Given the description of an element on the screen output the (x, y) to click on. 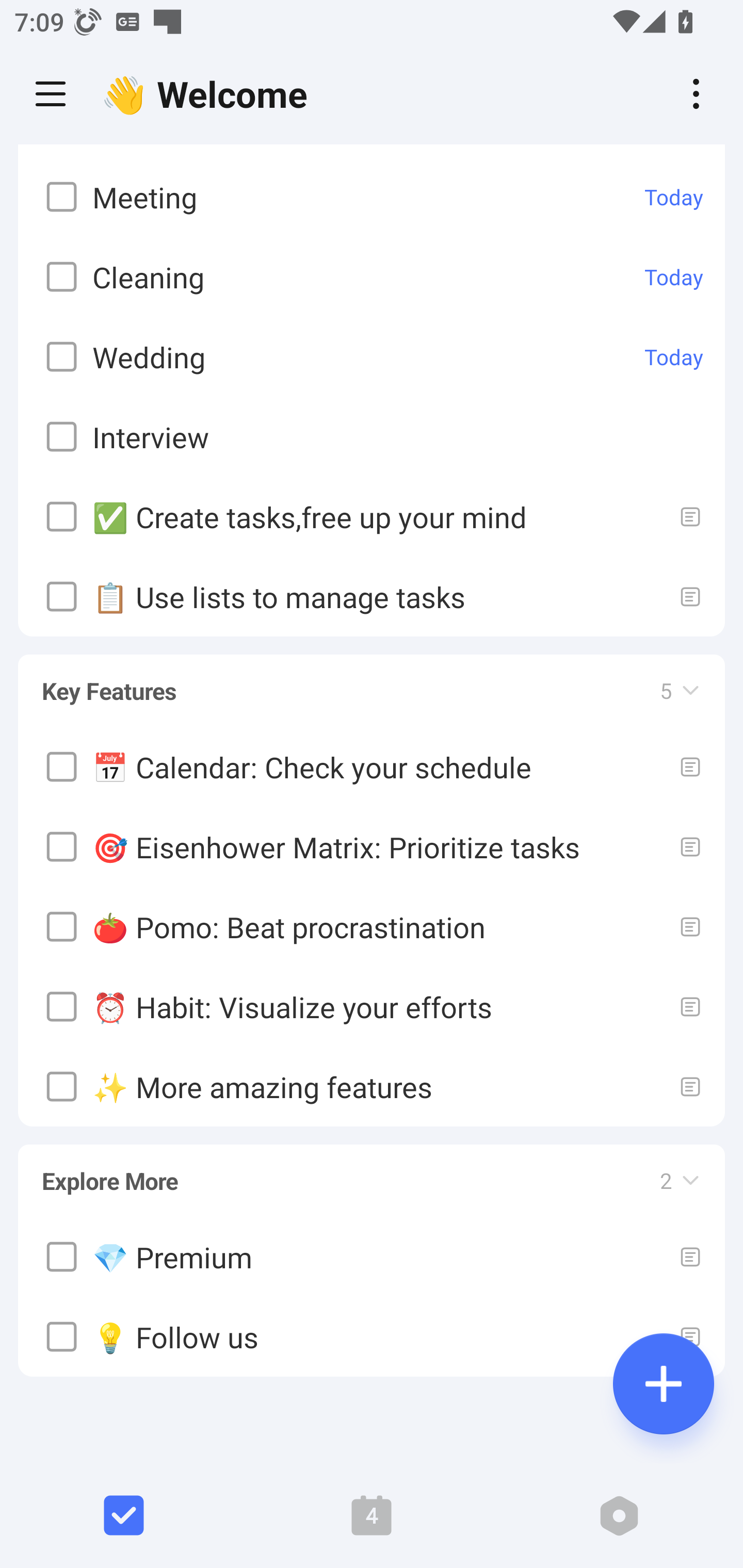
👋 Welcome (209, 93)
Meeting Today (371, 196)
Today (673, 196)
Cleaning Today (371, 276)
Today (673, 276)
Wedding Today (371, 356)
Today (673, 356)
Interview (371, 436)
✅ Create tasks,free up your mind (371, 516)
📋 Use lists to manage tasks (371, 596)
Key Features 5 (371, 680)
📅 Calendar: Check your schedule (371, 765)
🎯 Eisenhower Matrix: Prioritize tasks (371, 845)
🍅 Pomo: Beat procrastination (371, 925)
⏰ Habit: Visualize your efforts (371, 1005)
✨ More amazing features (371, 1085)
Explore More 2 (371, 1170)
💎 Premium (371, 1256)
💡 Follow us (371, 1336)
